Given the description of an element on the screen output the (x, y) to click on. 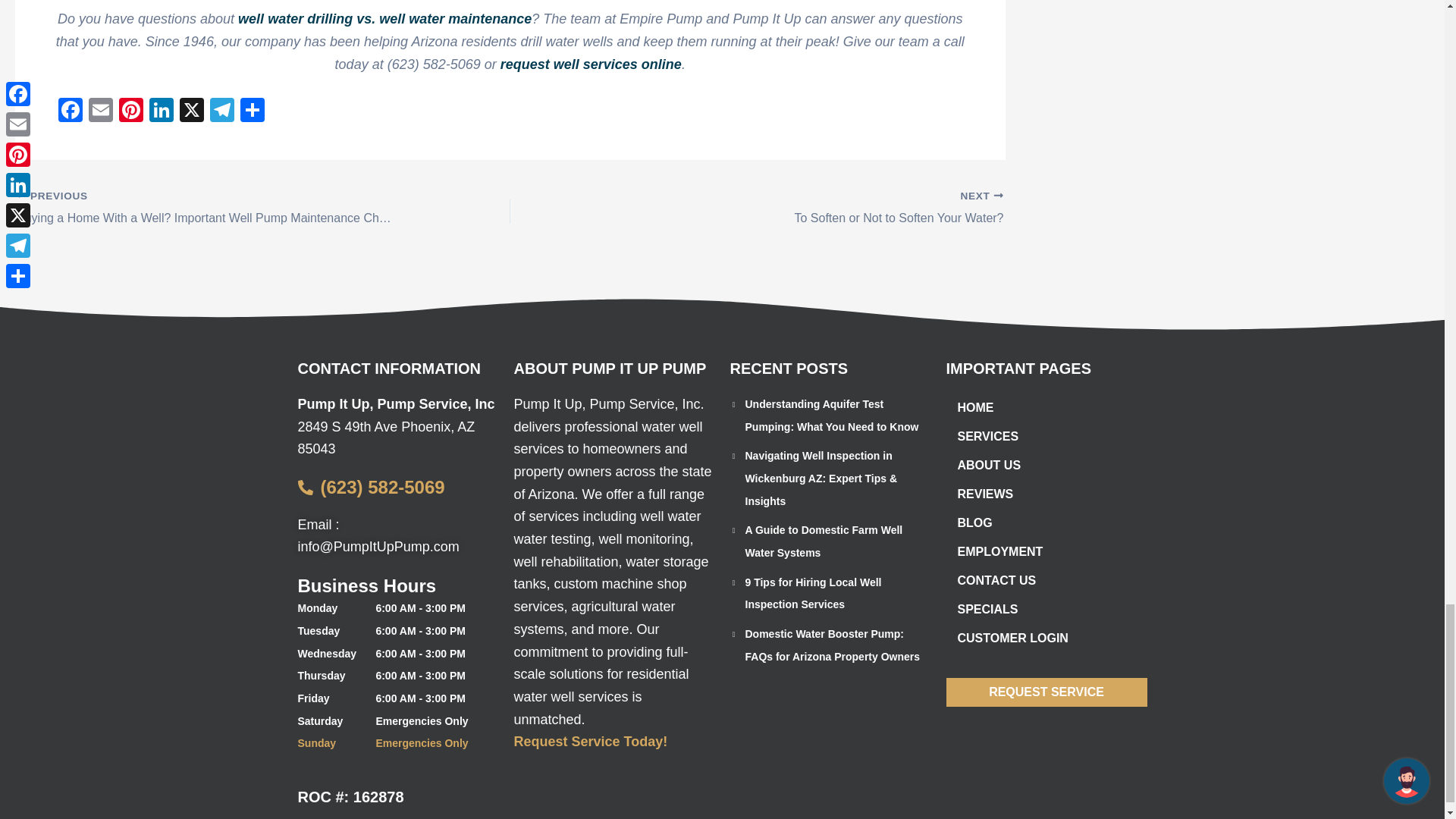
LinkedIn (161, 111)
Pinterest (131, 111)
Telegram (221, 111)
To Soften or Not to Soften Your Water? (805, 208)
Facebook (70, 111)
X (191, 111)
Email (100, 111)
